Given the description of an element on the screen output the (x, y) to click on. 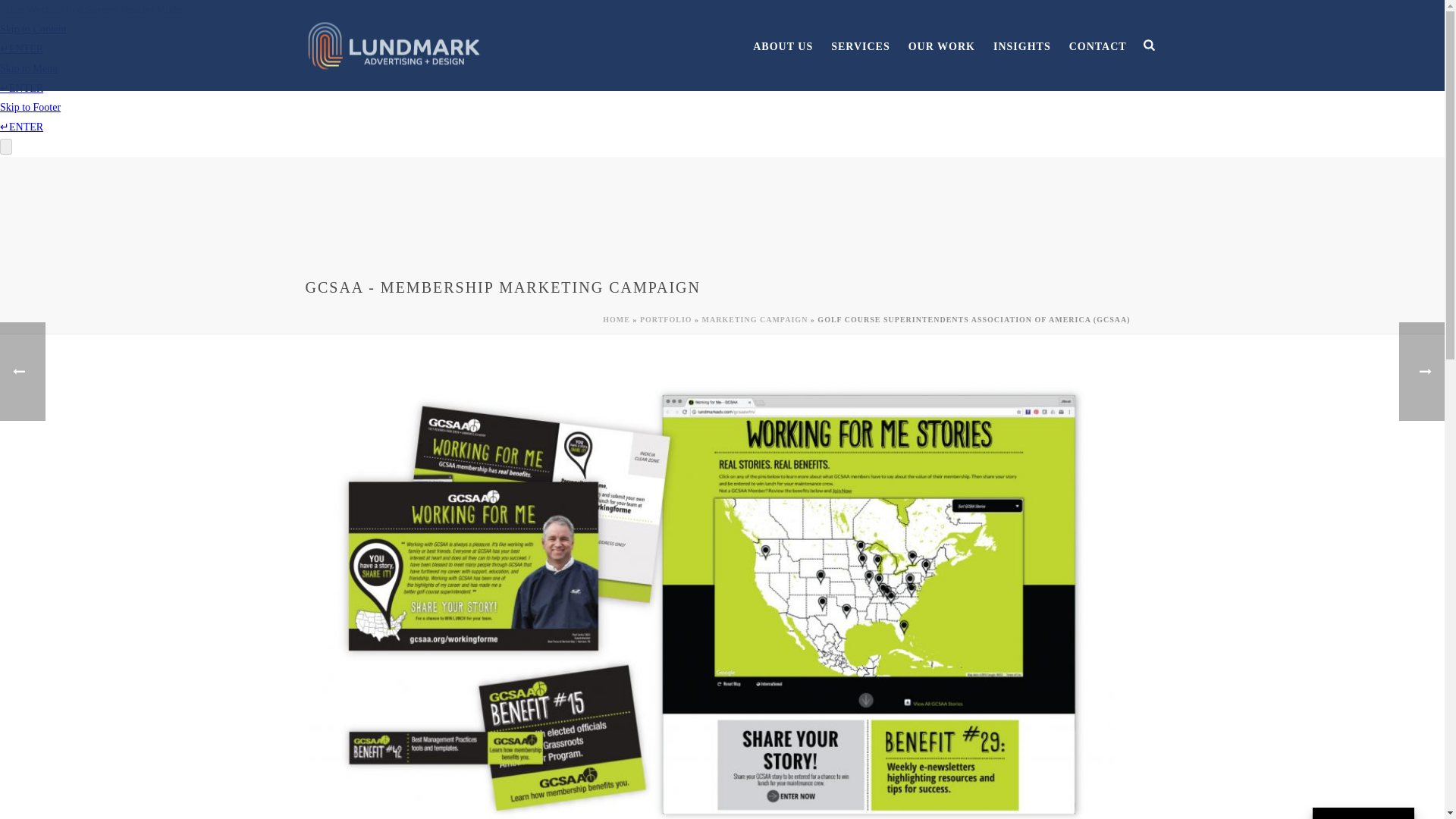
PORTFOLIO (666, 319)
ABOUT US (783, 45)
MARKETING CAMPAIGN (754, 319)
HOME (616, 319)
INSIGHTS (1021, 45)
OUR WORK (941, 45)
CONTACT (1097, 45)
SERVICES (860, 45)
CONTACT (1097, 45)
OUR WORK (941, 45)
Advertising in Kansas City (392, 45)
INSIGHTS (1021, 45)
SERVICES (860, 45)
ABOUT US (783, 45)
